Given the description of an element on the screen output the (x, y) to click on. 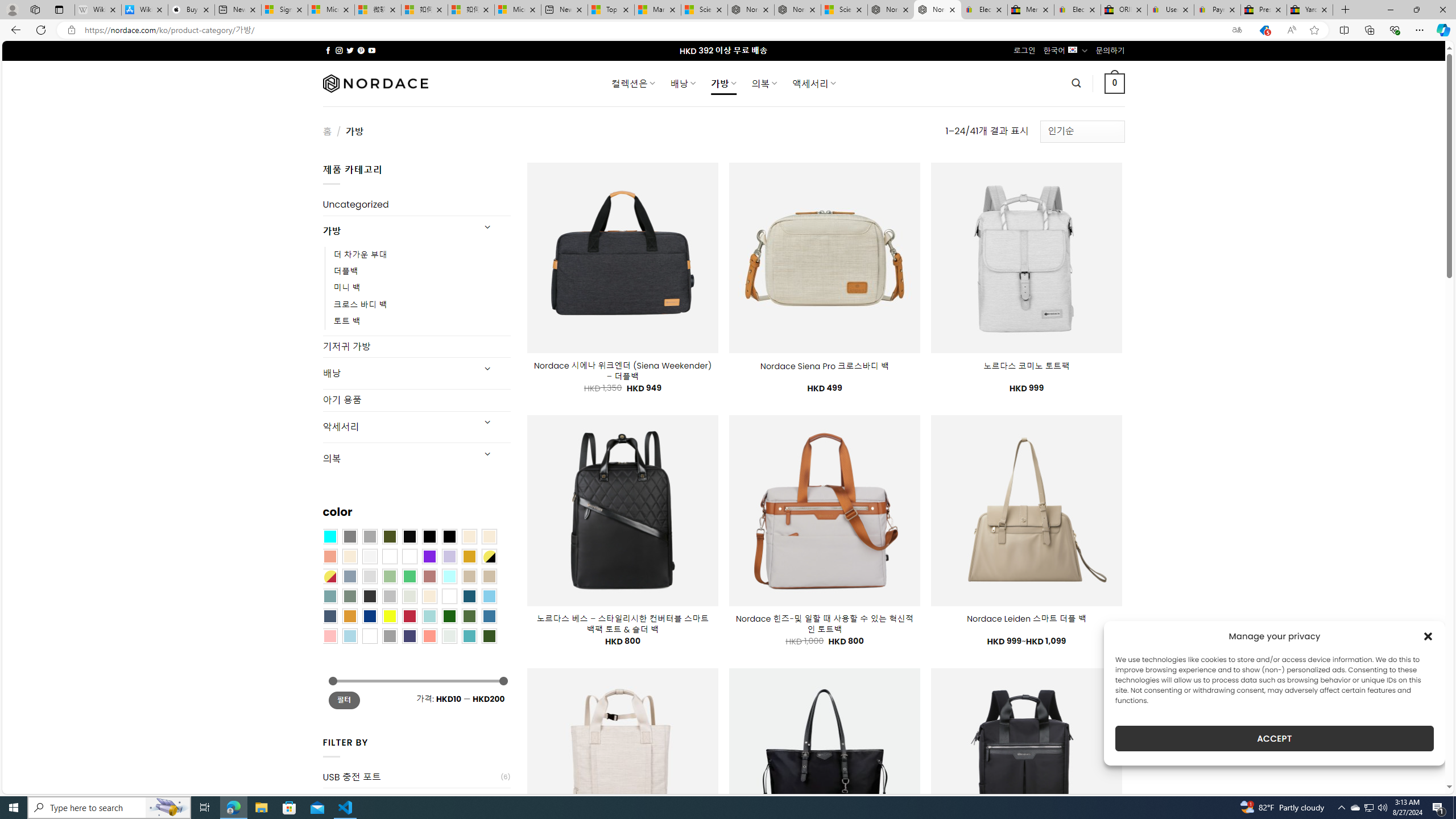
Yard, Garden & Outdoor Living (1309, 9)
Coral (329, 555)
Microsoft Services Agreement (330, 9)
Class: cmplz-close (1428, 636)
